Given the description of an element on the screen output the (x, y) to click on. 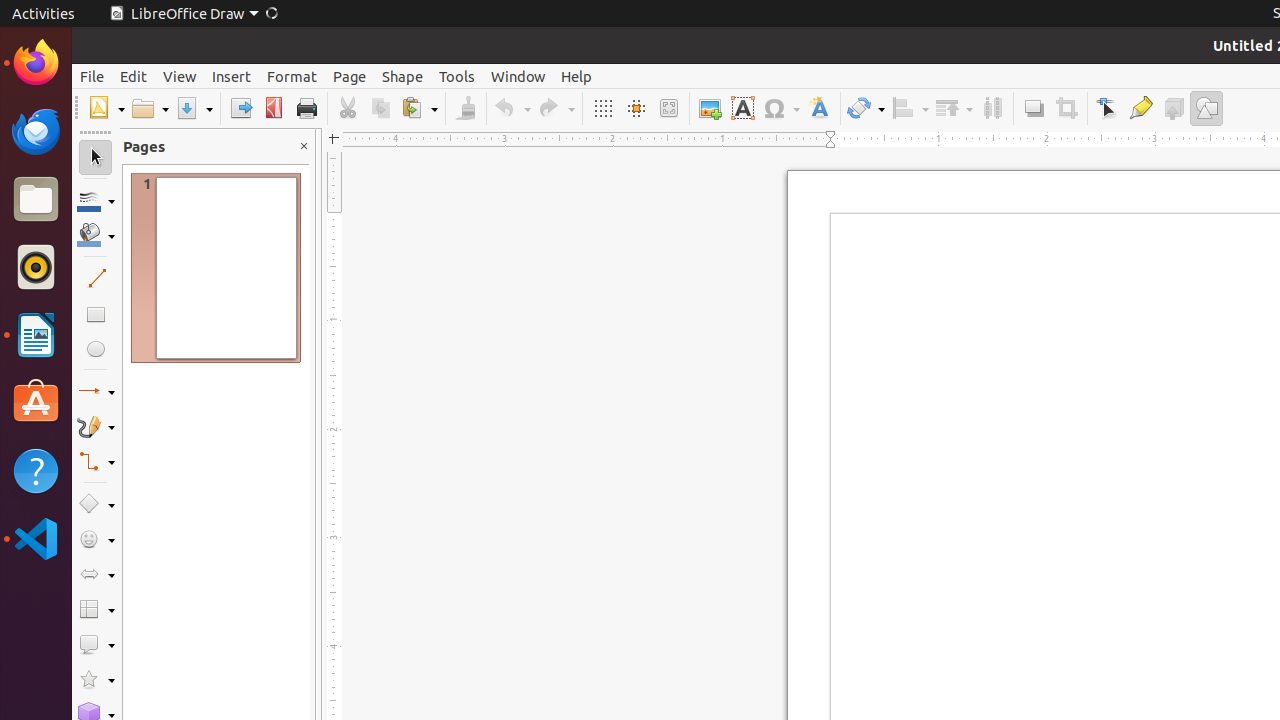
Fontwork Style Element type: toggle-button (819, 108)
Arrow Shapes Element type: push-button (96, 574)
Text Box Element type: push-button (742, 108)
Page Element type: menu (349, 76)
View Element type: menu (179, 76)
